Given the description of an element on the screen output the (x, y) to click on. 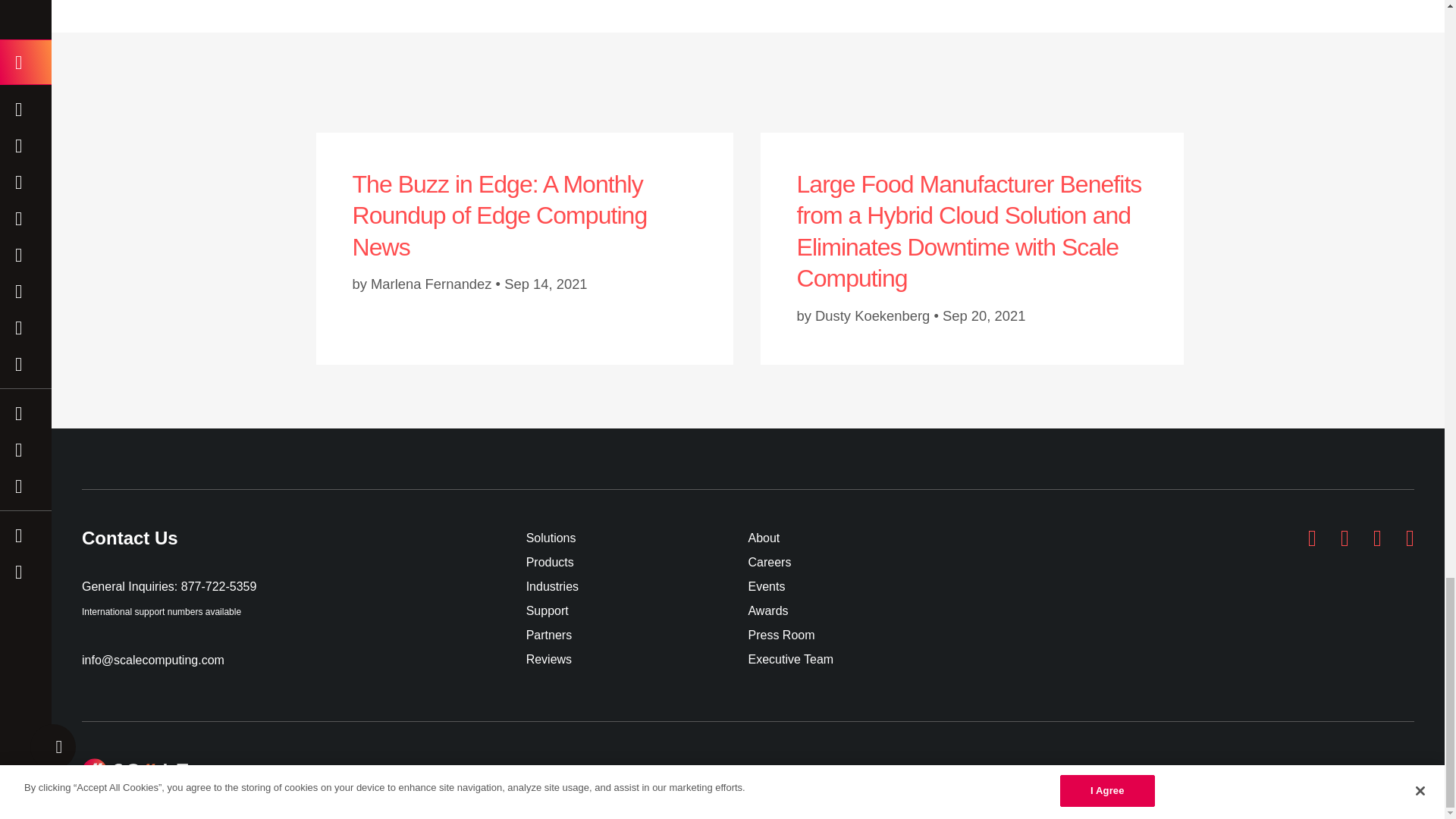
Industries (636, 586)
Solutions (636, 538)
Scale Computing (135, 770)
Products (636, 562)
The Buzz in Edge: A Monthly Roundup of Edge Computing News (499, 215)
Contact Us (303, 548)
International support numbers available (161, 611)
877-722-5359 (218, 585)
